Given the description of an element on the screen output the (x, y) to click on. 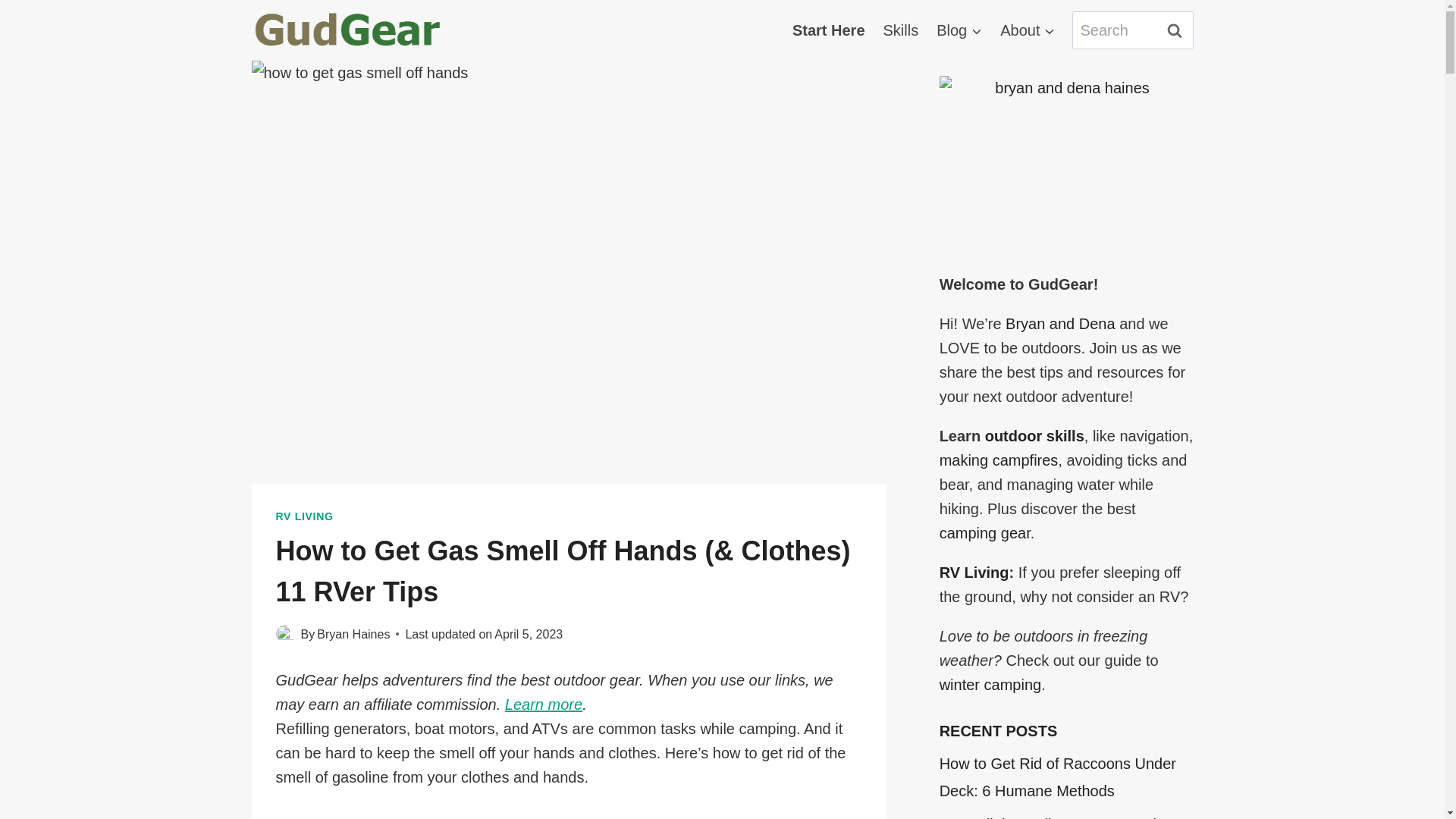
Search (1174, 30)
RV LIVING (304, 516)
Start Here (829, 30)
About (1027, 30)
Blog (959, 30)
Bryan Haines (353, 634)
Search (1174, 30)
Search (1174, 30)
Learn more (543, 704)
Skills (901, 30)
